Given the description of an element on the screen output the (x, y) to click on. 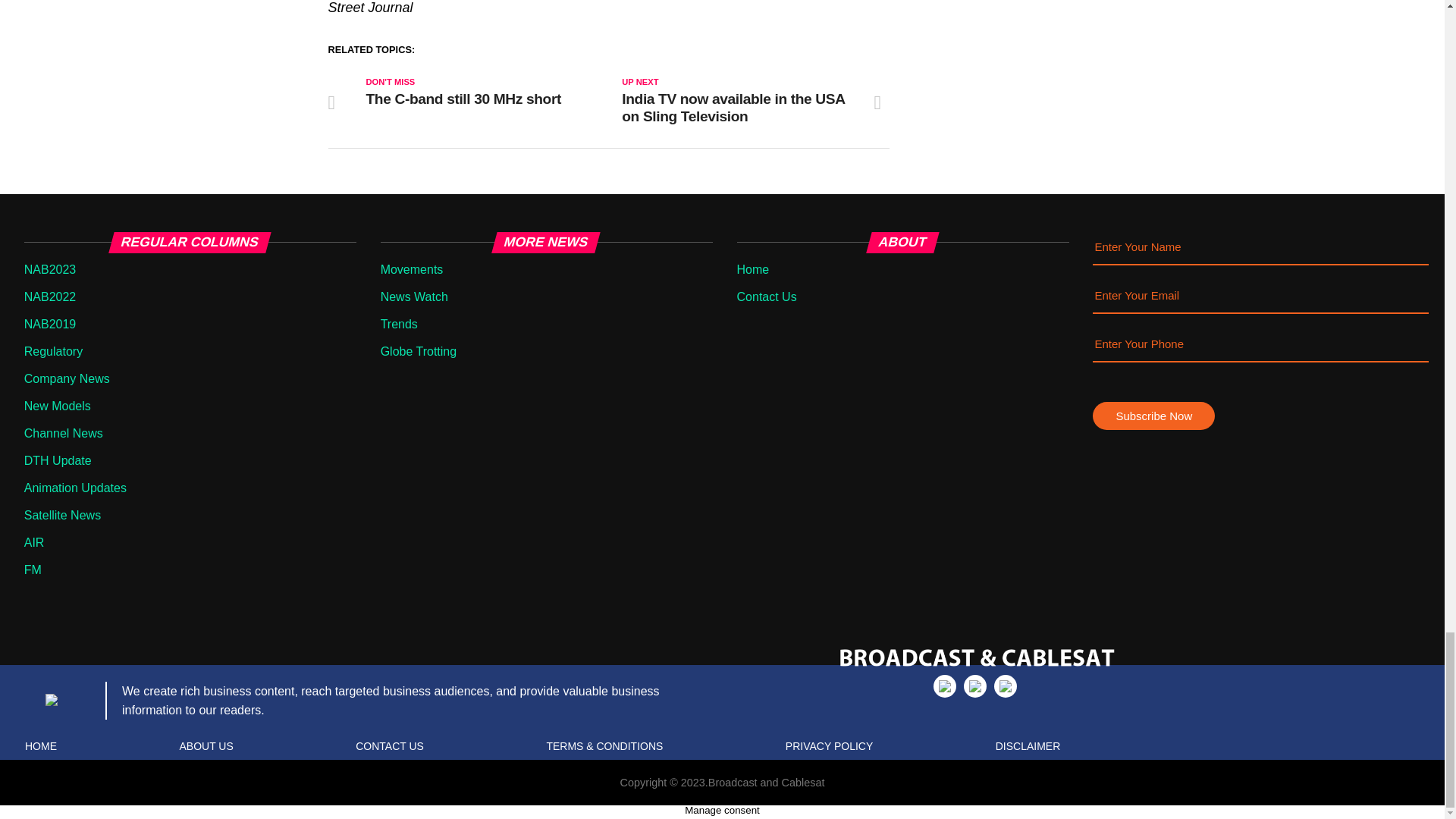
Subscribe Now (1153, 415)
